Given the description of an element on the screen output the (x, y) to click on. 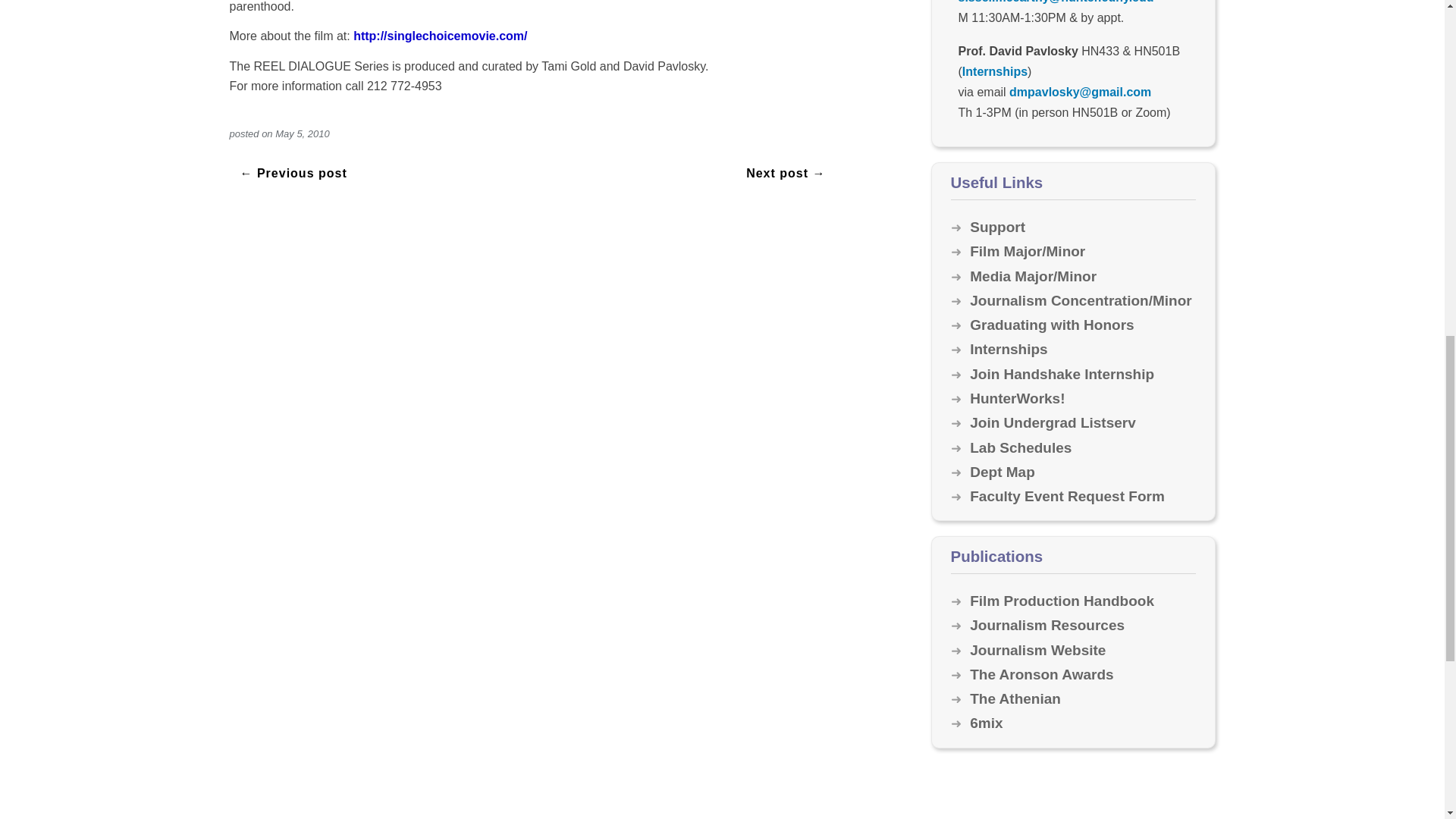
Find out about internship opportunities. (1007, 349)
Handshake app (1061, 374)
